Given the description of an element on the screen output the (x, y) to click on. 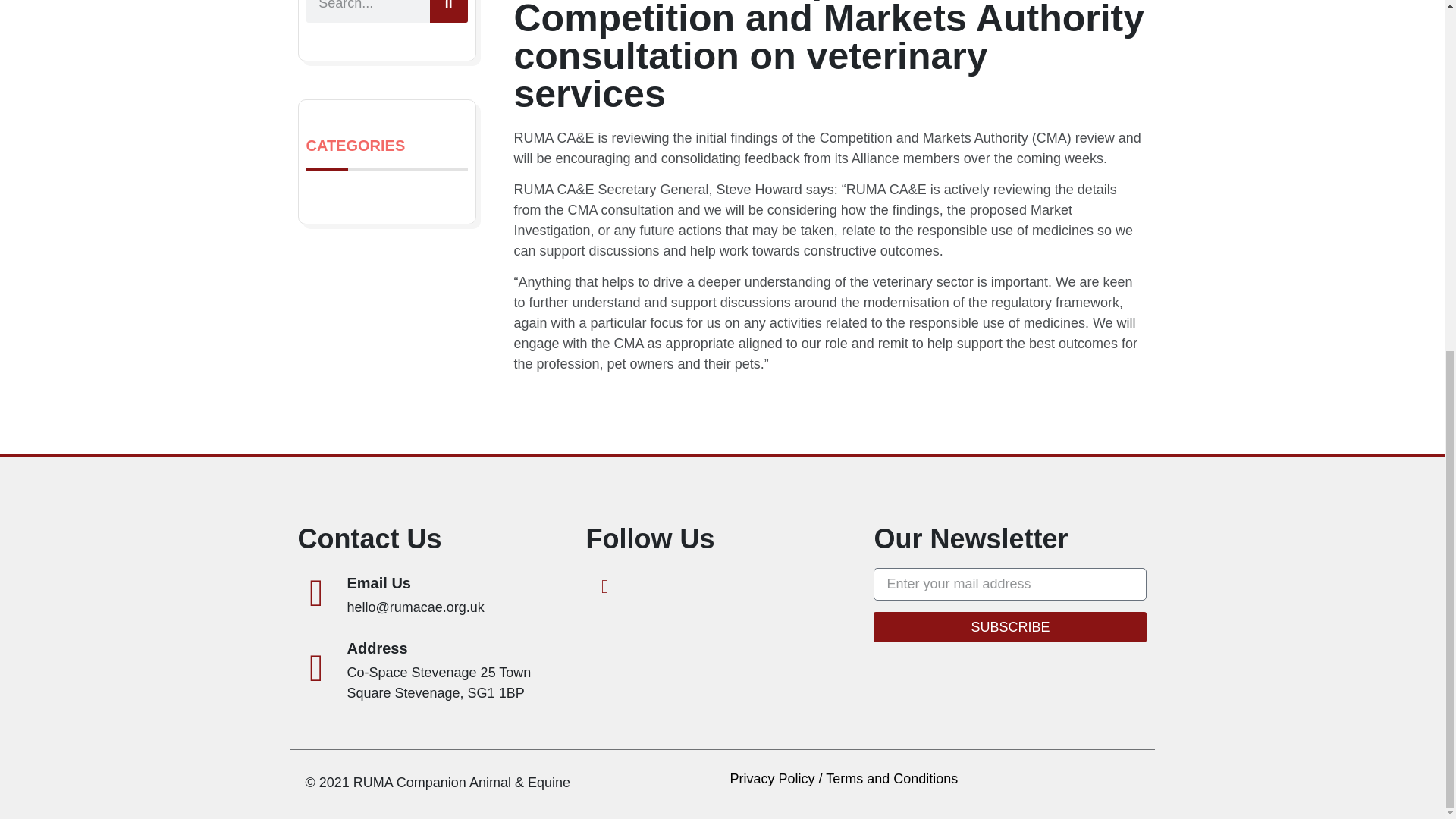
SUBSCRIBE (1010, 626)
Terms and Conditions (891, 778)
Privacy Policy (771, 778)
